Given the description of an element on the screen output the (x, y) to click on. 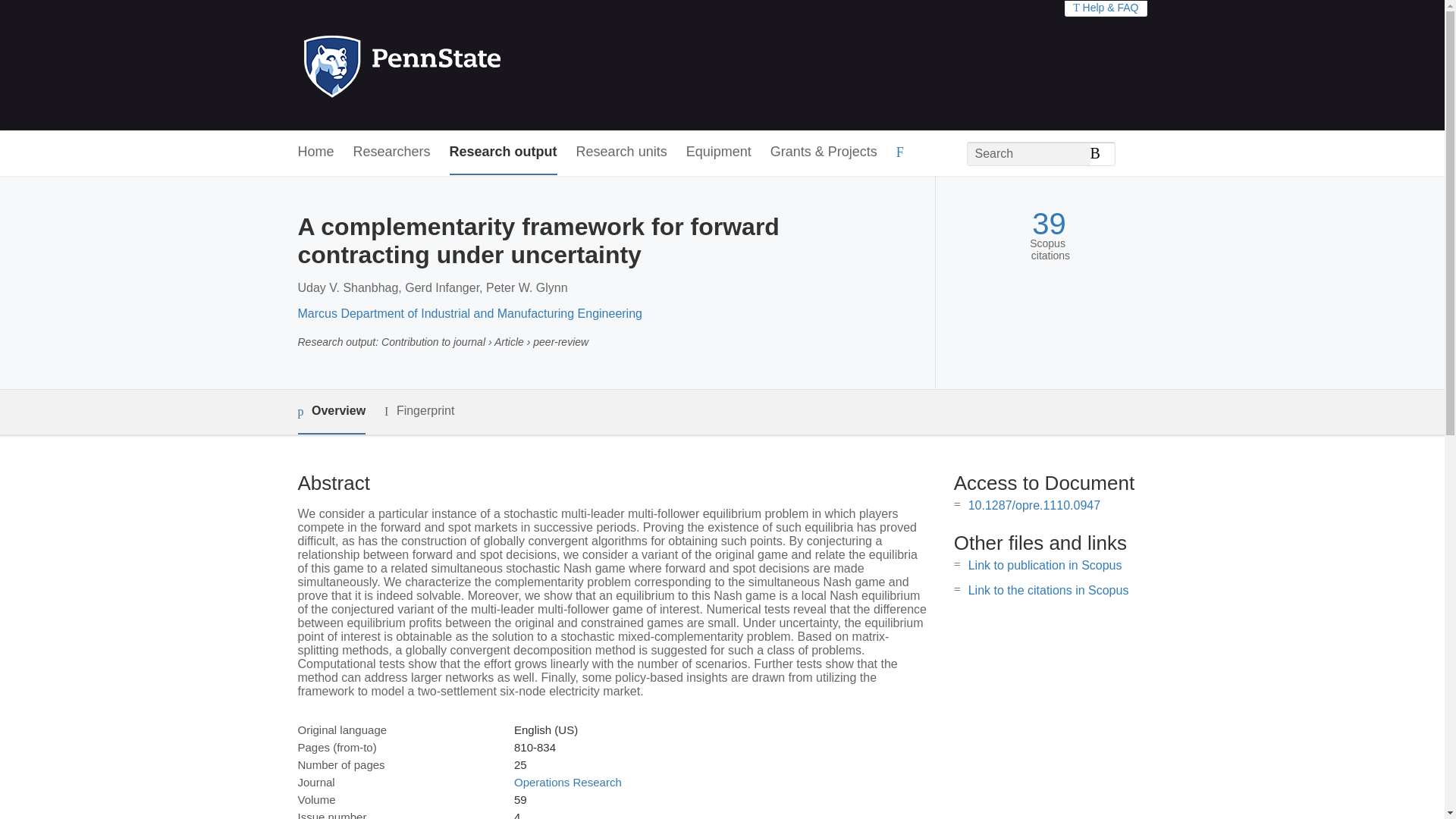
Overview (331, 411)
Research output (503, 152)
Link to publication in Scopus (1045, 564)
Equipment (718, 152)
Research units (621, 152)
Operations Research (567, 781)
Fingerprint (419, 411)
Penn State Home (467, 65)
